Given the description of an element on the screen output the (x, y) to click on. 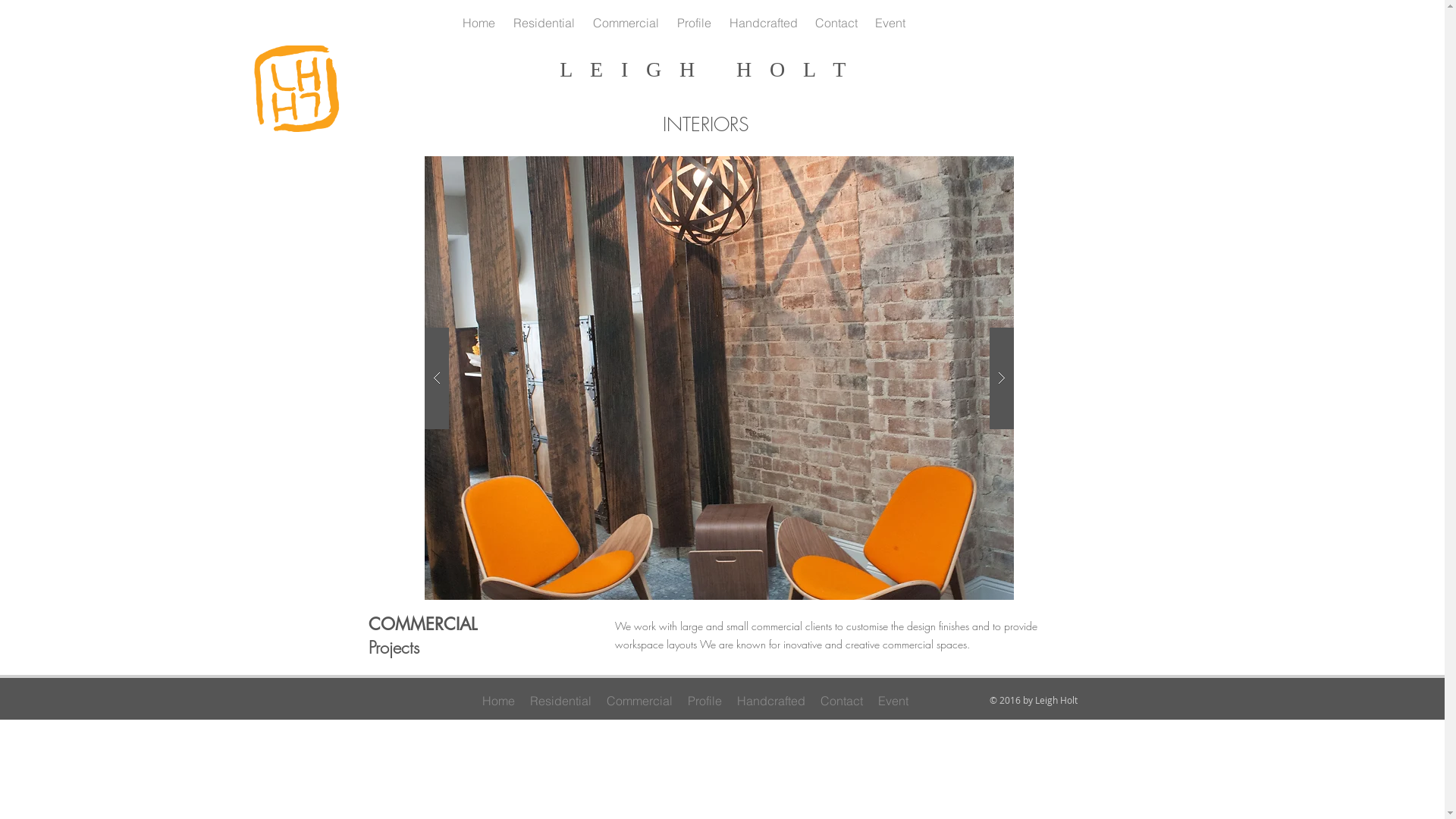
Event Element type: text (893, 700)
Contact Element type: text (841, 700)
Home Element type: text (478, 22)
Event Element type: text (889, 22)
Embedded Content Element type: hover (952, 22)
Residential Element type: text (543, 22)
Profile Element type: text (703, 700)
Profile Element type: text (693, 22)
Contact Element type: text (836, 22)
Residential Element type: text (559, 700)
Home Element type: text (498, 700)
